Given the description of an element on the screen output the (x, y) to click on. 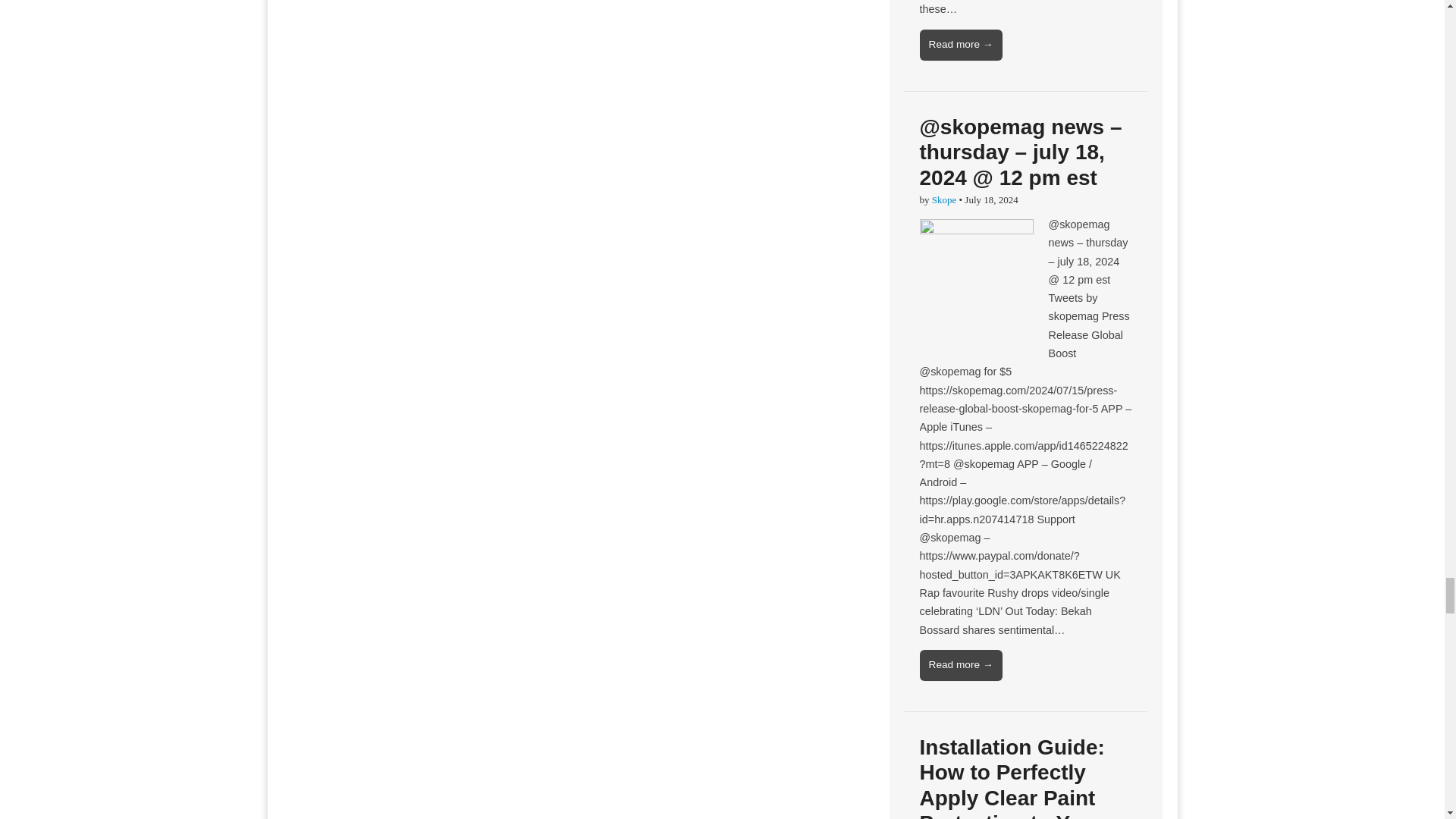
Posts by Skope (943, 199)
